Given the description of an element on the screen output the (x, y) to click on. 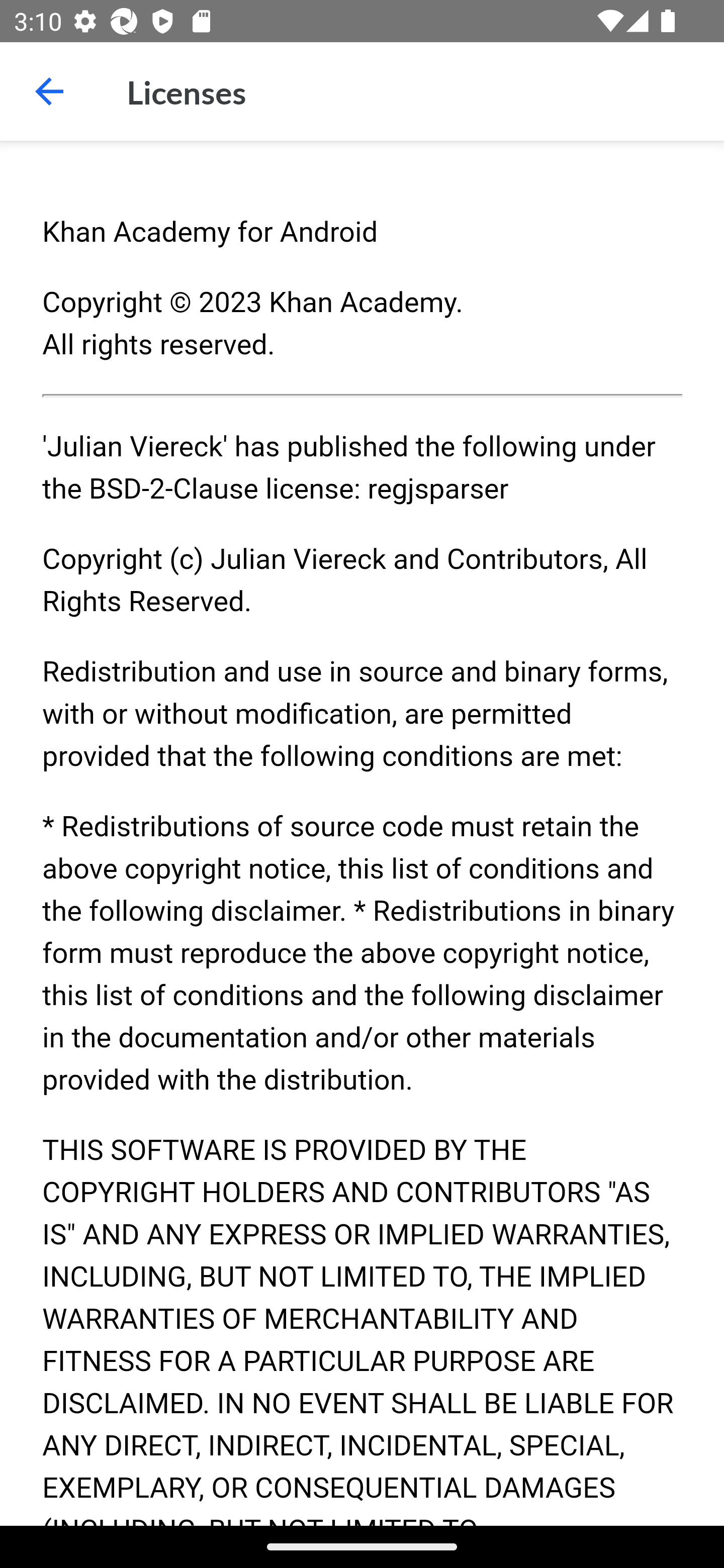
Navigate up (49, 91)
